Given the description of an element on the screen output the (x, y) to click on. 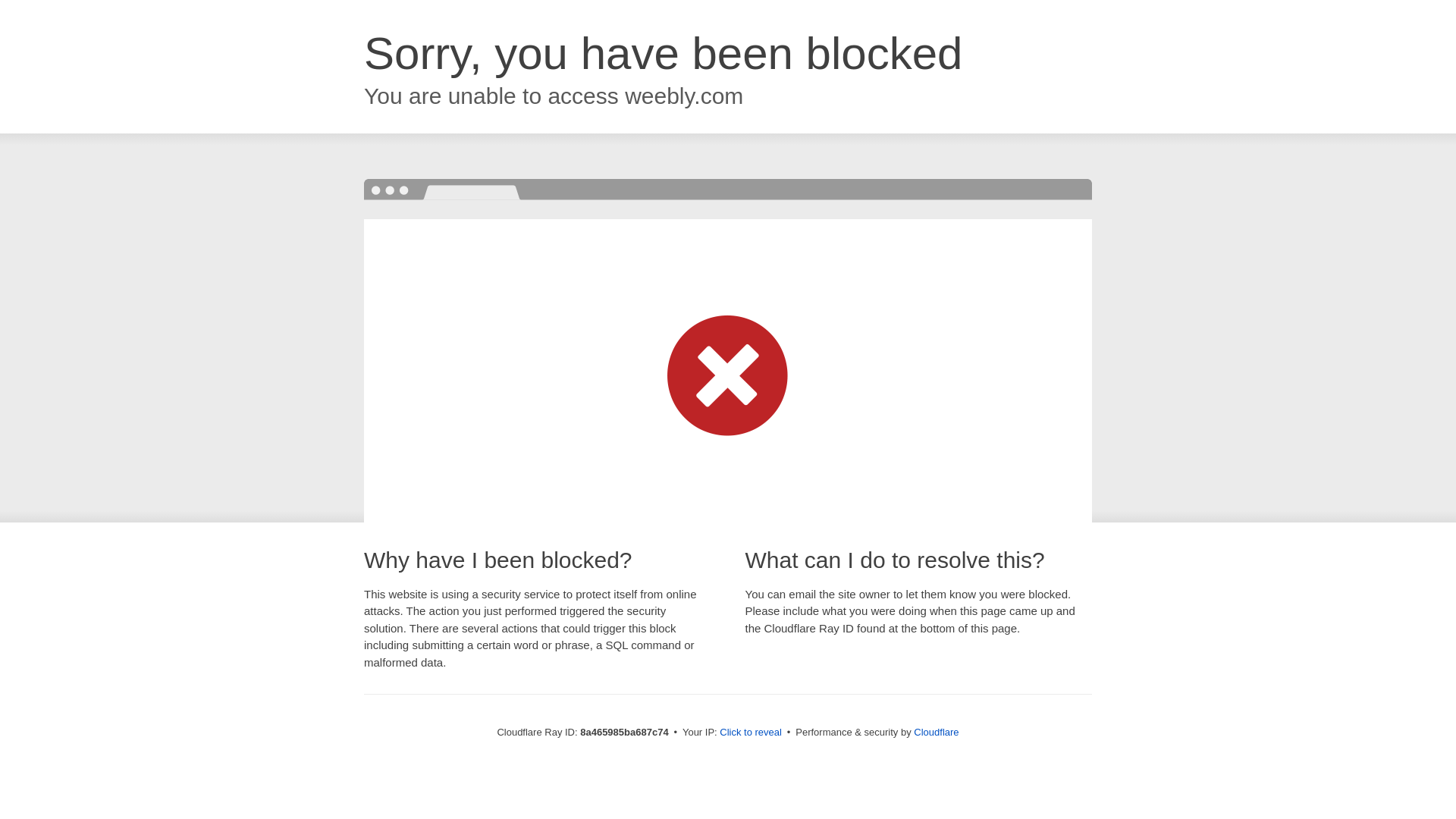
Cloudflare (936, 731)
Click to reveal (750, 732)
